Given the description of an element on the screen output the (x, y) to click on. 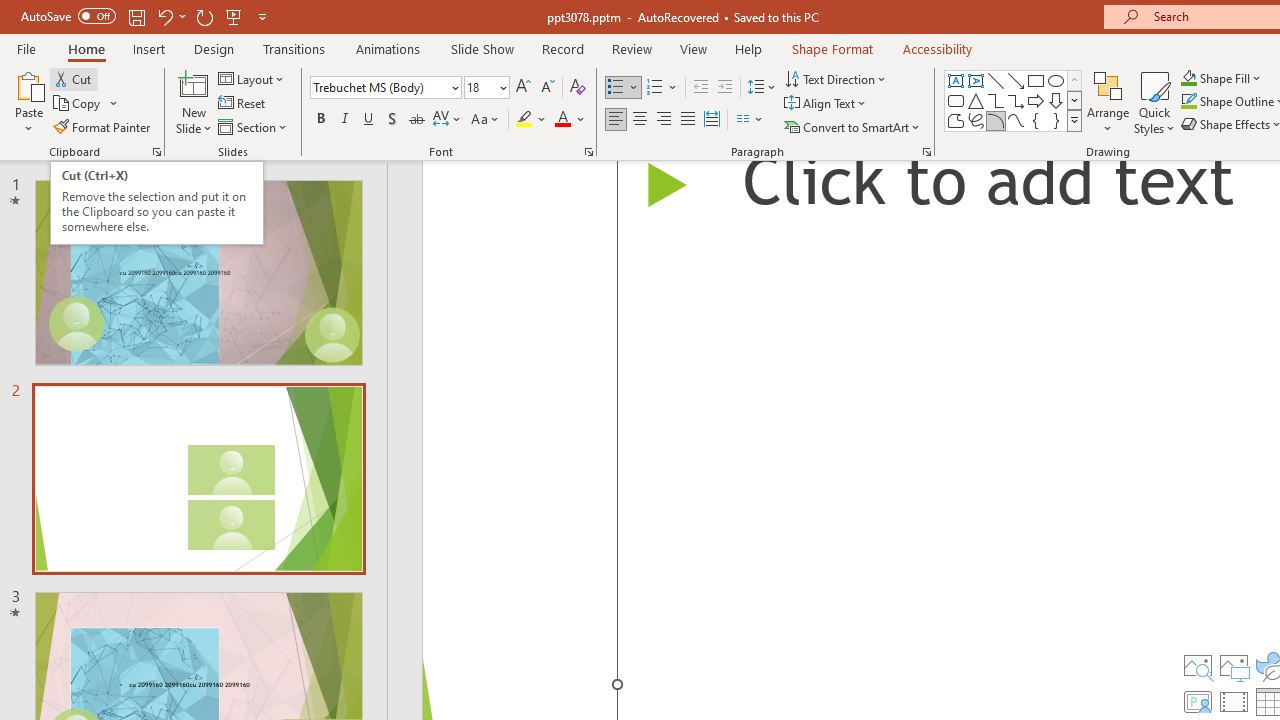
Insert Video (1234, 701)
Shape Outline Green, Accent 1 (1188, 101)
Shape Format (832, 48)
